Given the description of an element on the screen output the (x, y) to click on. 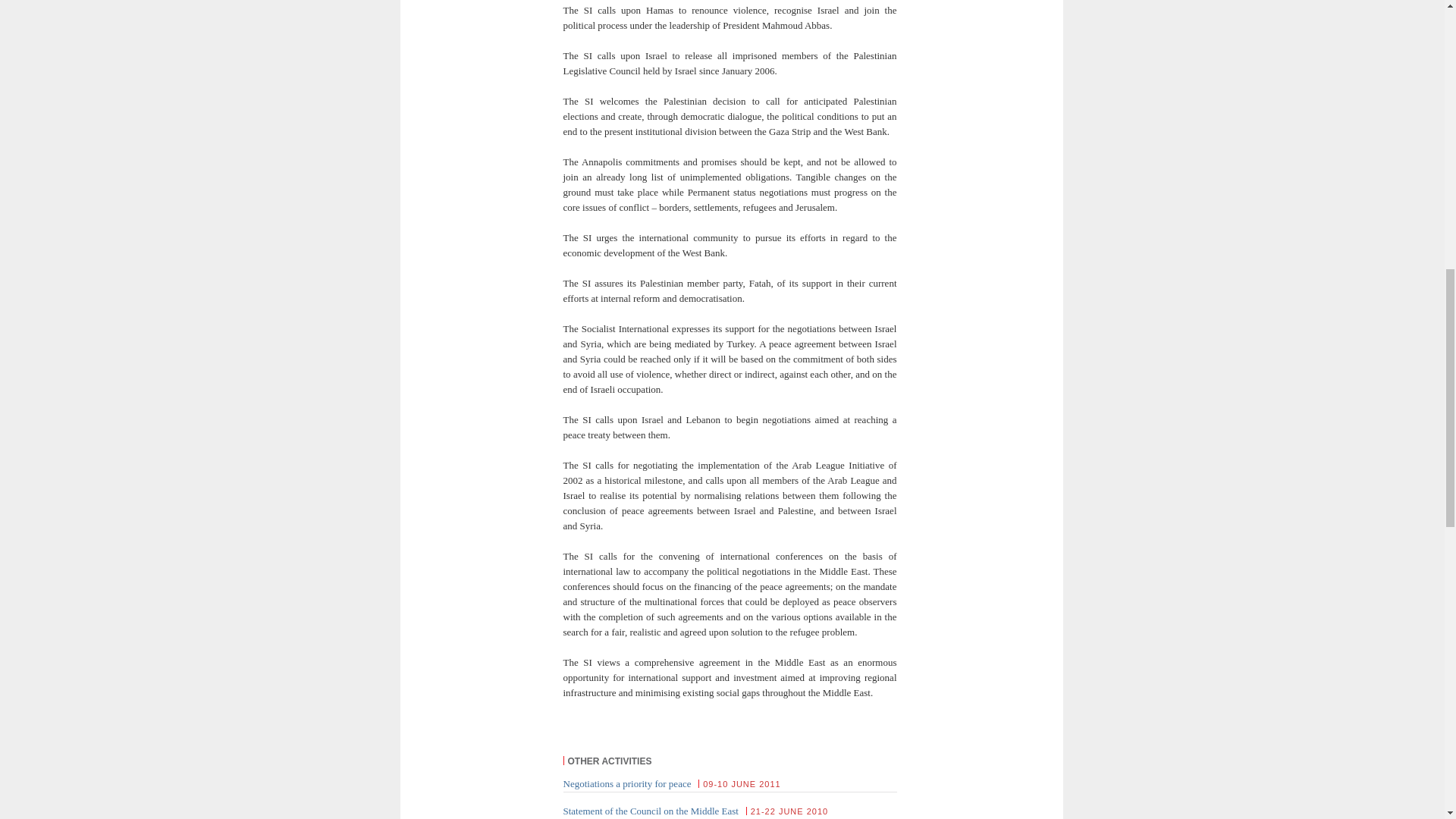
Statement of the Council on the Middle East (650, 810)
Negotiations a priority for peace (626, 783)
